Given the description of an element on the screen output the (x, y) to click on. 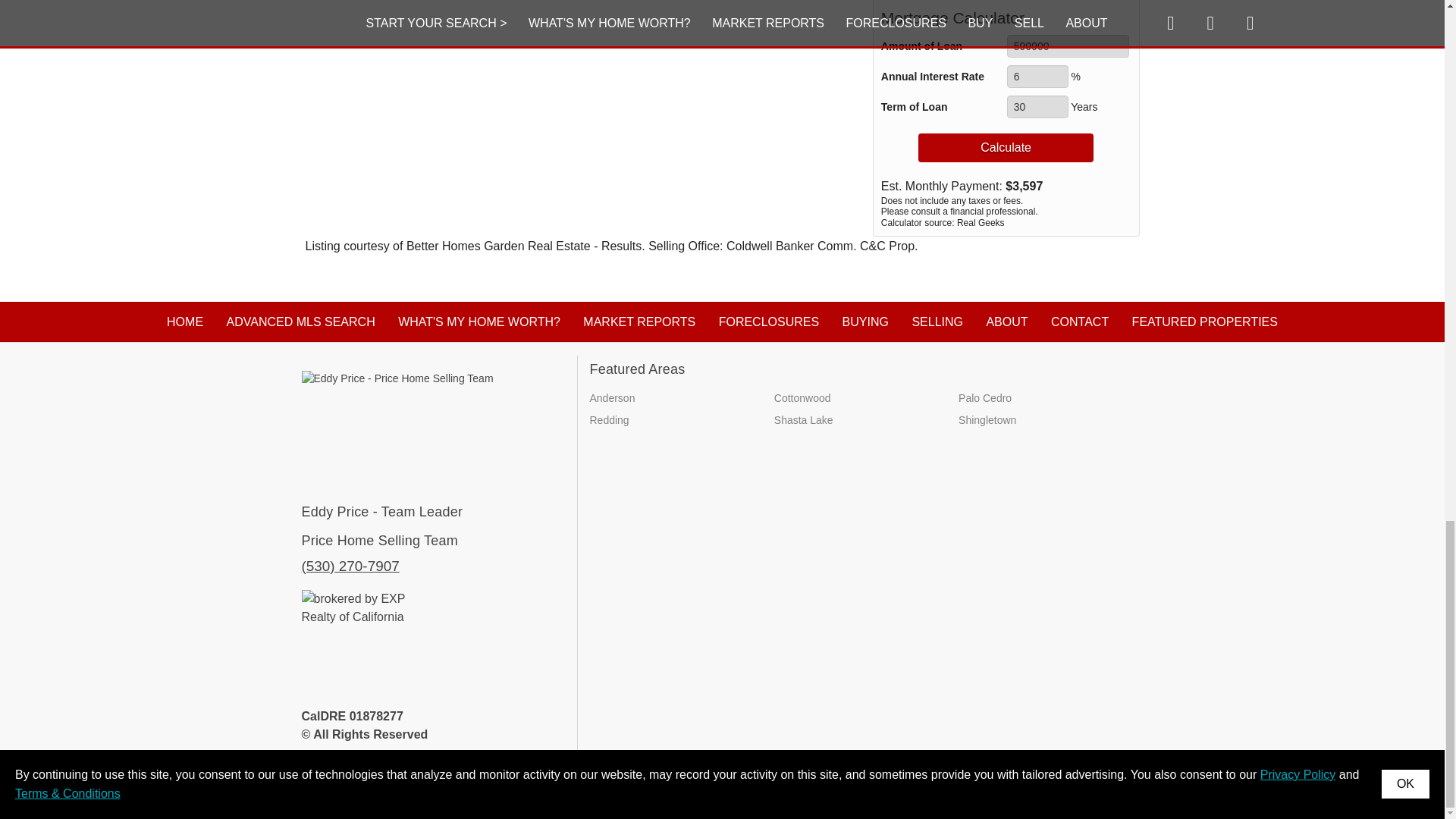
30 (1037, 106)
6 (1037, 76)
599900 (1068, 46)
Call Price Home Selling Team in Redding (349, 565)
